Given the description of an element on the screen output the (x, y) to click on. 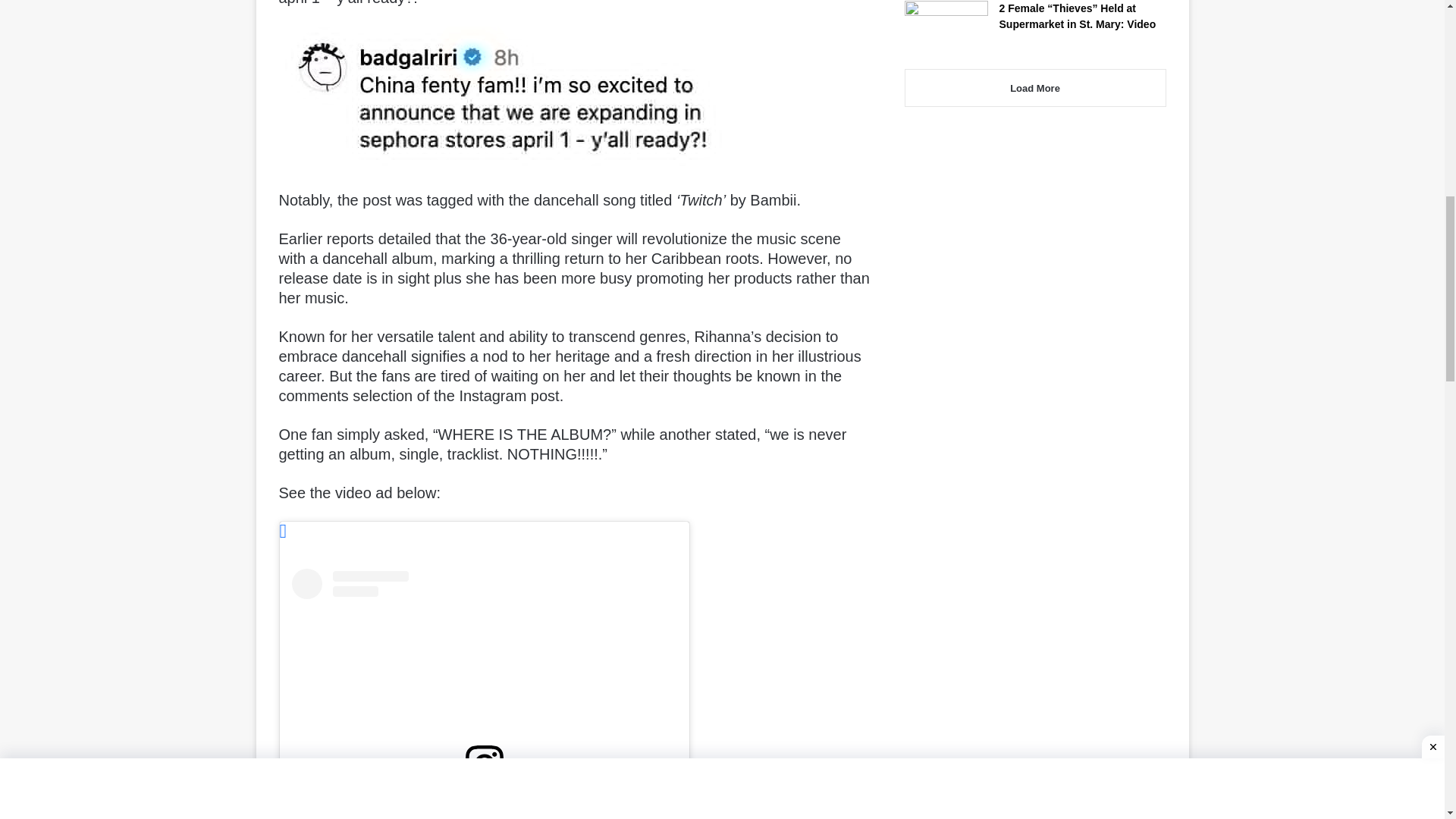
View this post on Instagram (484, 693)
